Given the description of an element on the screen output the (x, y) to click on. 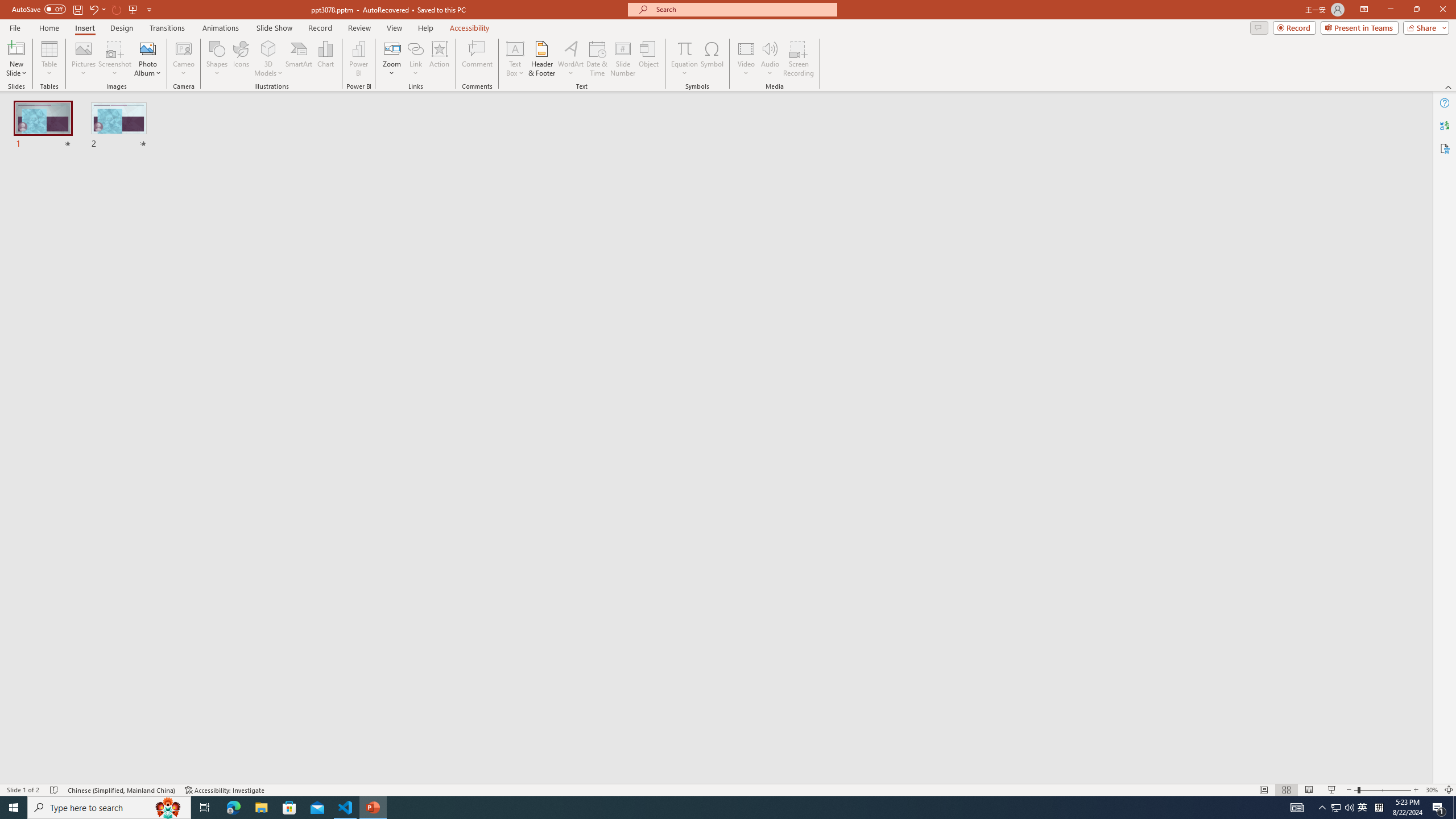
Draw Horizontal Text Box (515, 48)
Screenshot (114, 58)
New Photo Album... (147, 48)
